Given the description of an element on the screen output the (x, y) to click on. 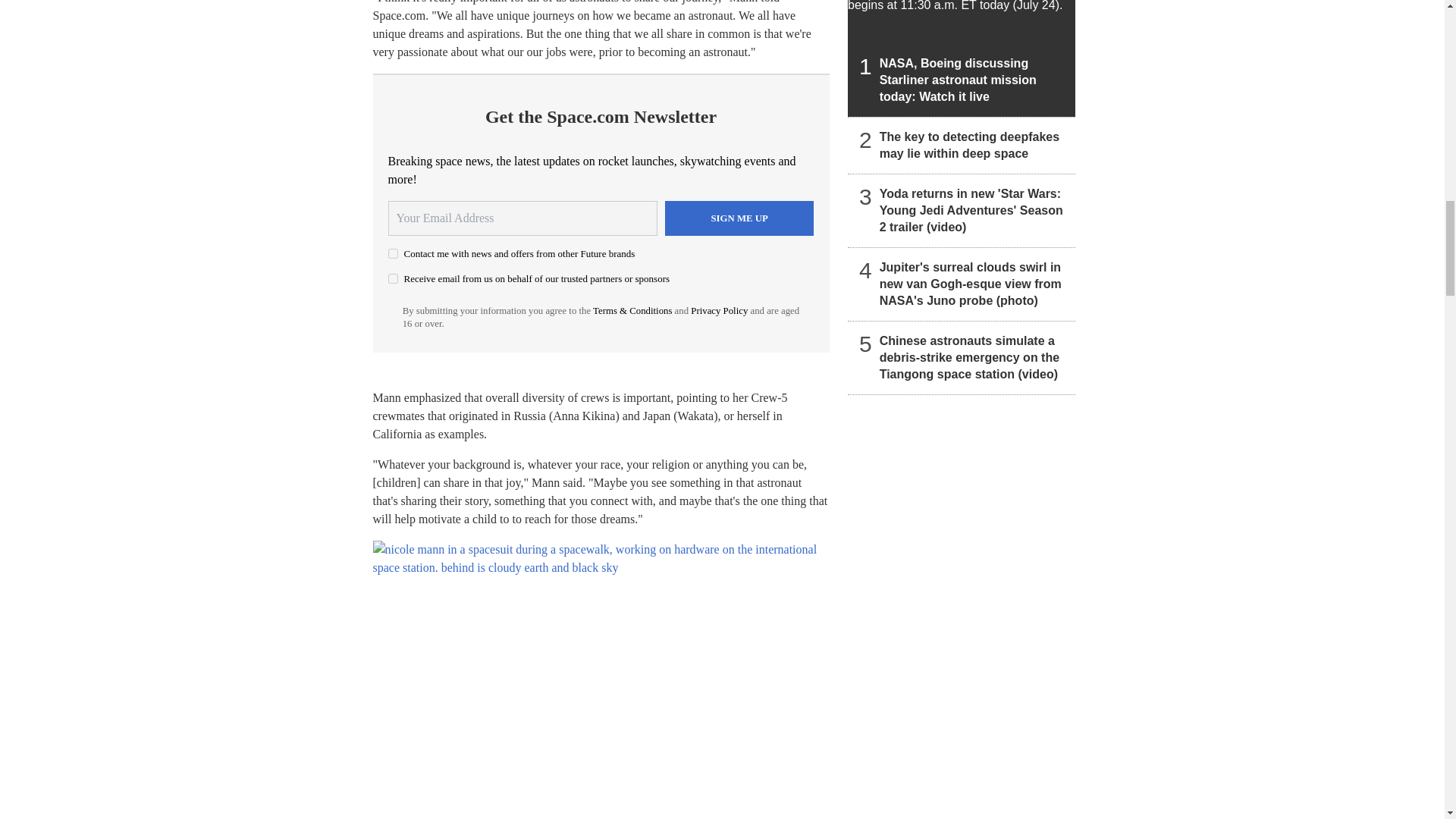
on (392, 278)
Sign me up (739, 217)
on (392, 253)
